Given the description of an element on the screen output the (x, y) to click on. 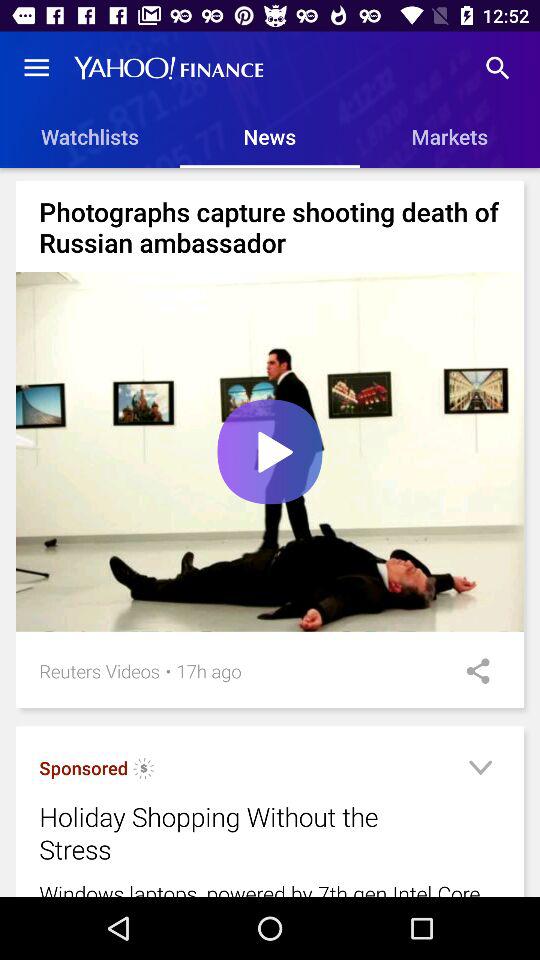
turn on the item below photographs capture shooting item (269, 451)
